Given the description of an element on the screen output the (x, y) to click on. 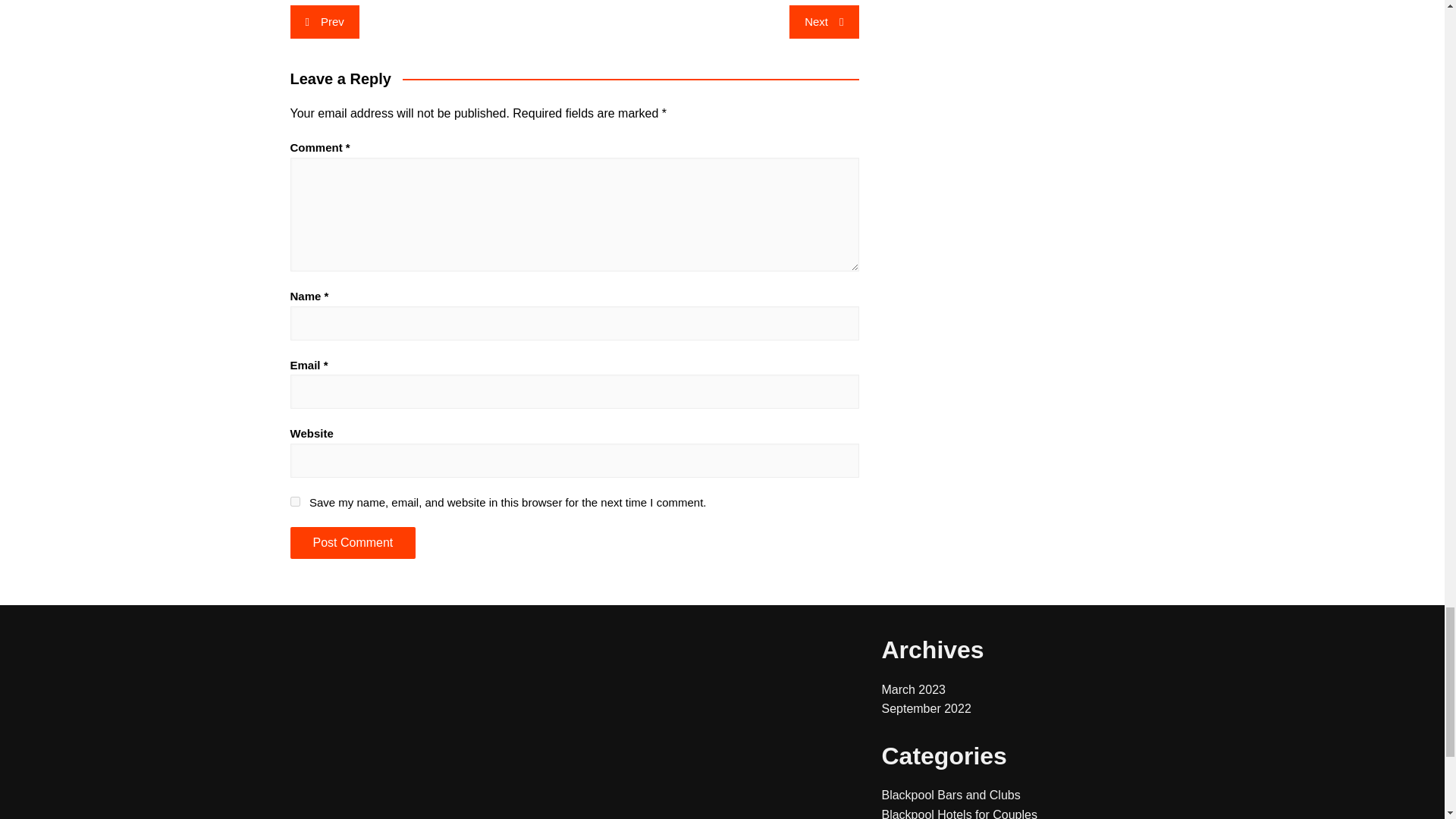
Post Comment (351, 542)
Prev (323, 21)
yes (294, 501)
Next (824, 21)
Post Comment (351, 542)
